Given the description of an element on the screen output the (x, y) to click on. 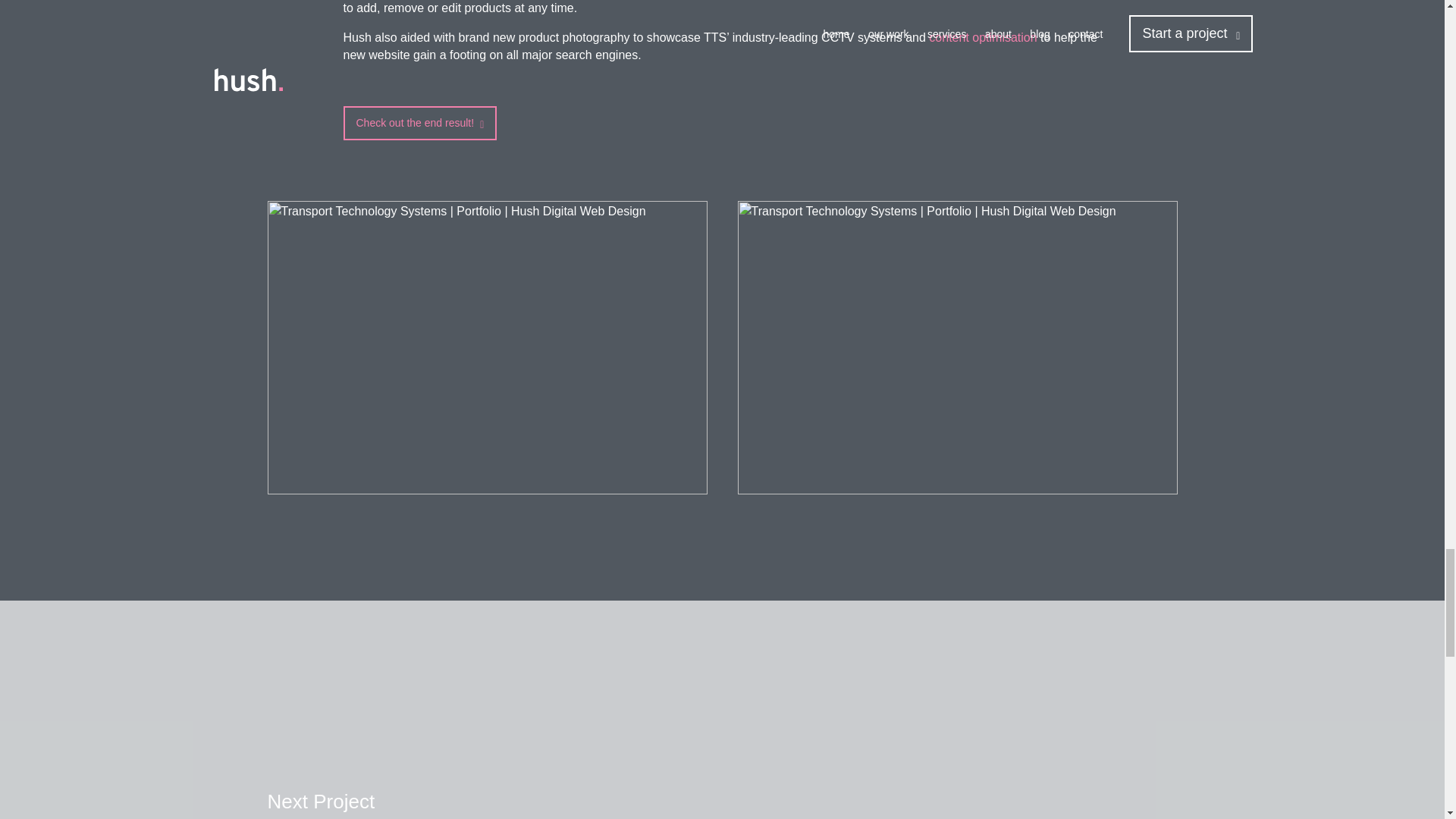
Check out the end result! (419, 123)
content optimisation (982, 37)
